Given the description of an element on the screen output the (x, y) to click on. 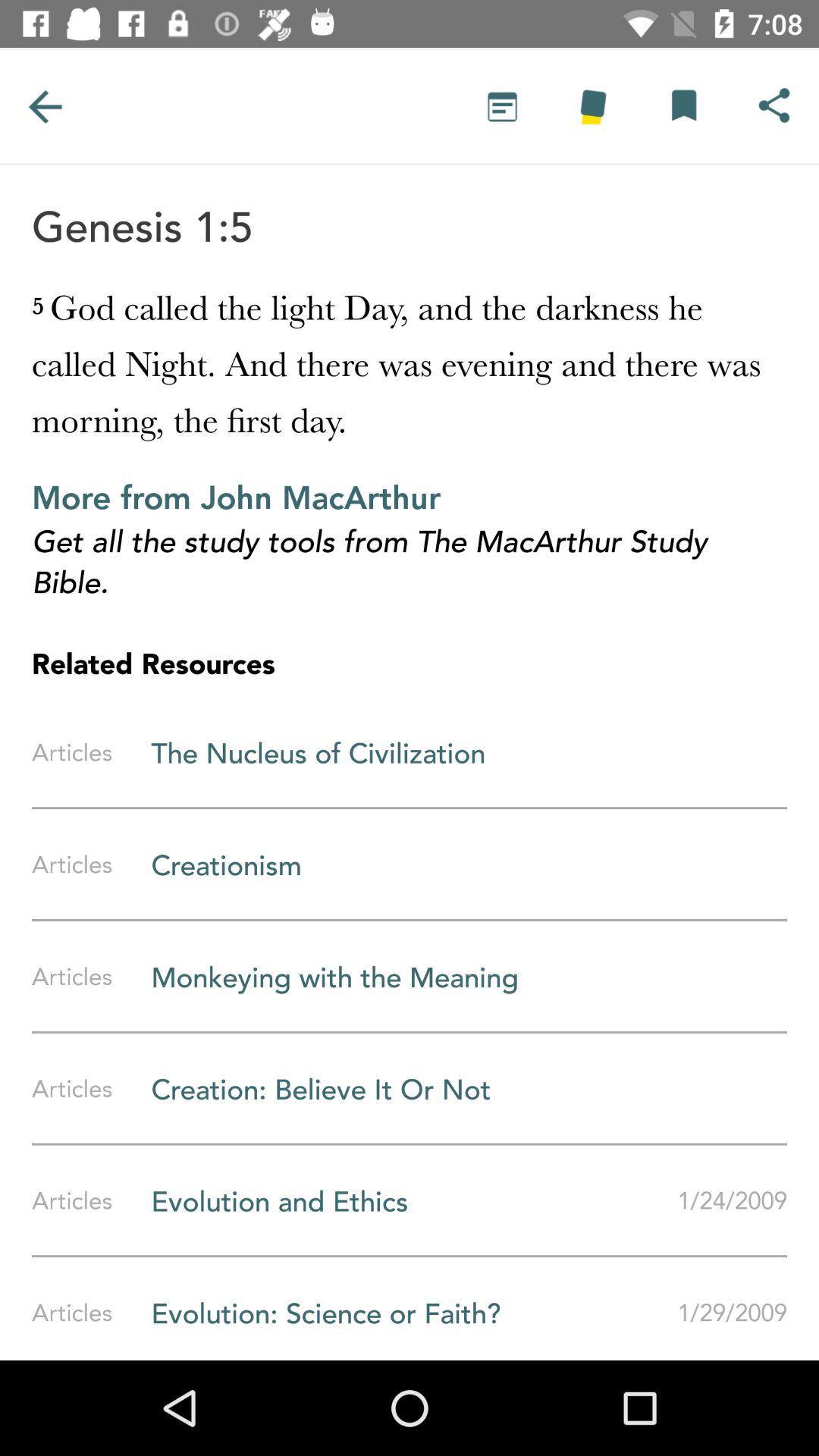
go to previous (45, 106)
